Given the description of an element on the screen output the (x, y) to click on. 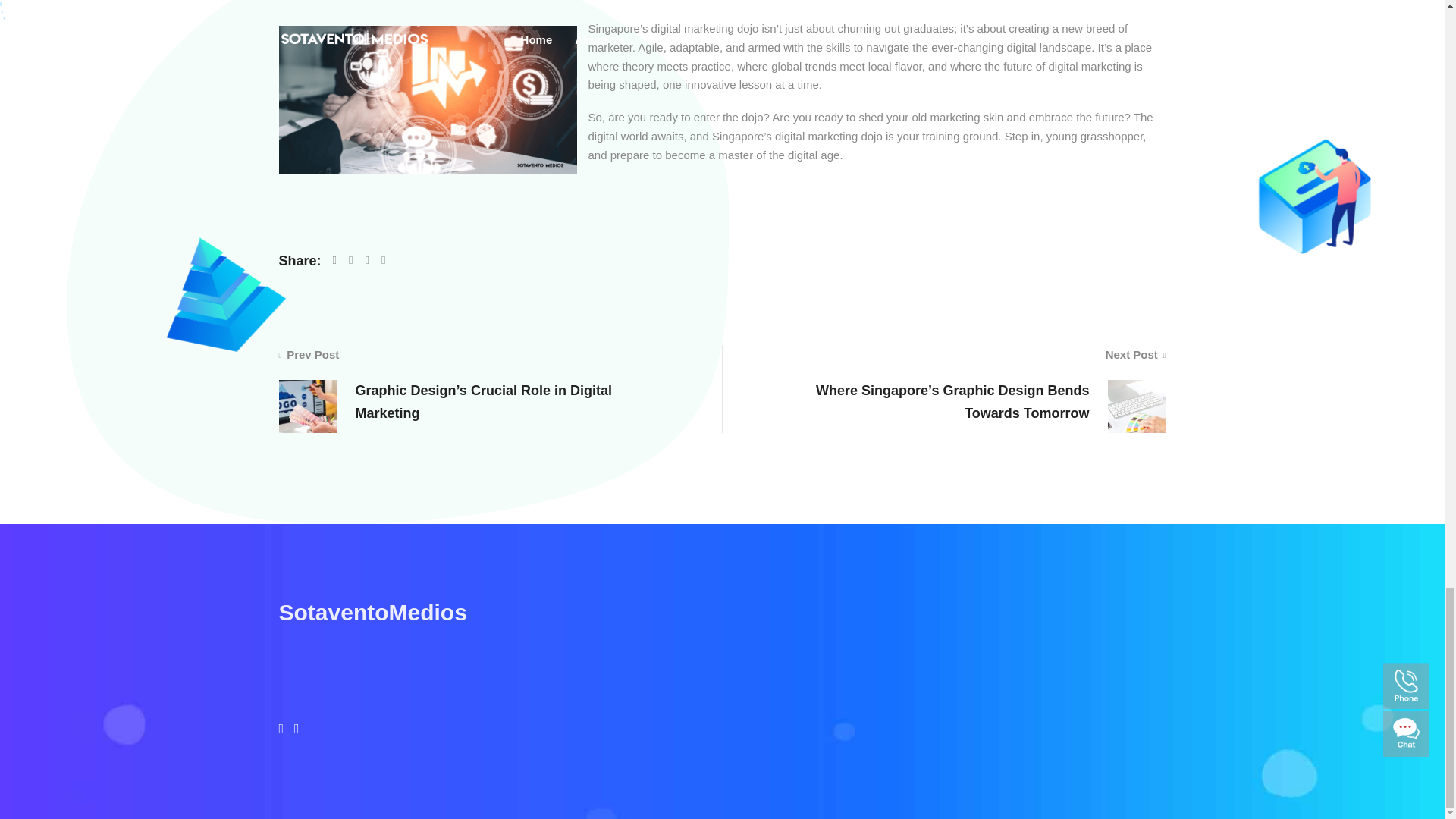
Next Post (1135, 354)
Prev Post (309, 354)
